Given the description of an element on the screen output the (x, y) to click on. 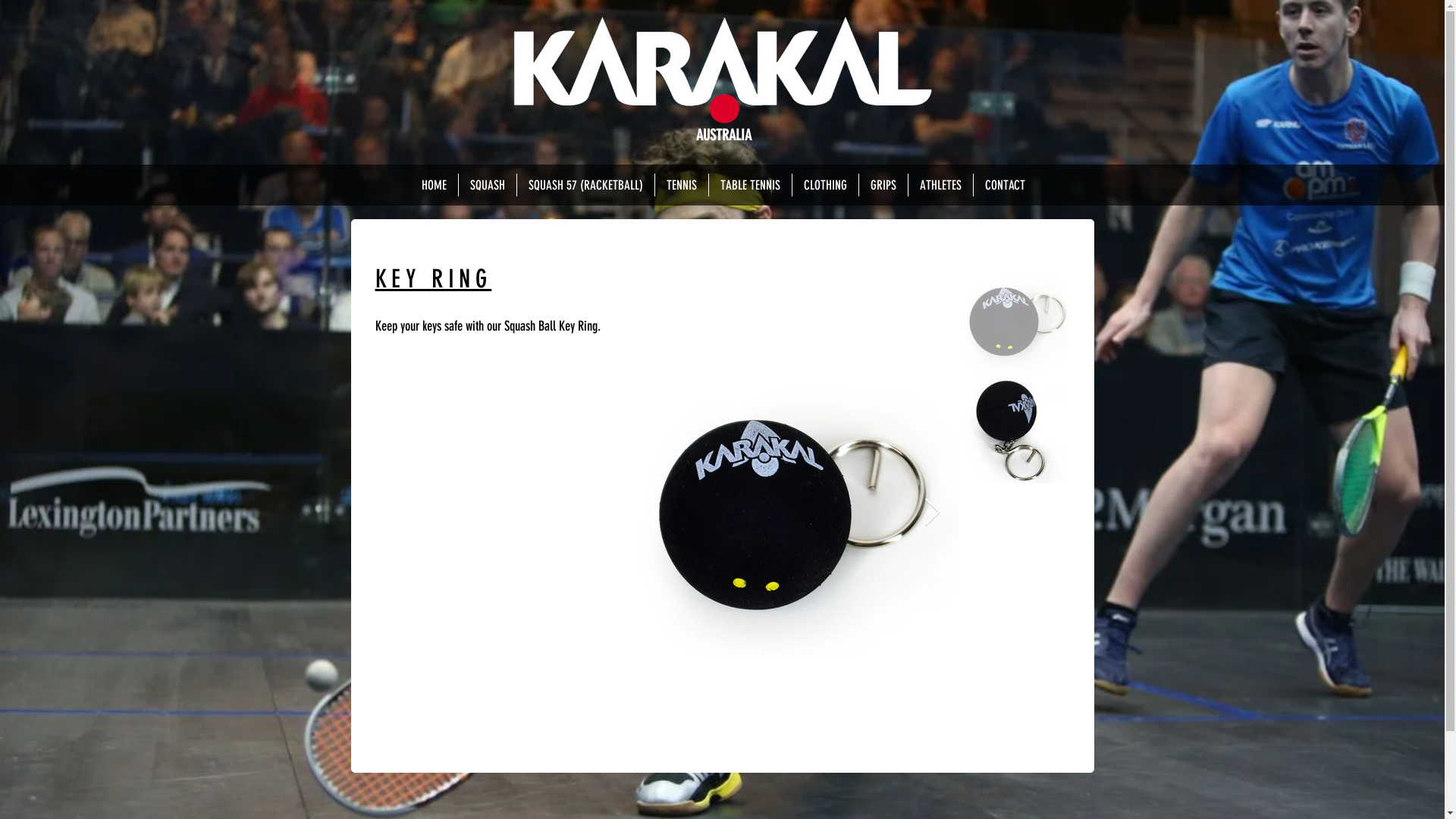
CONTACT Element type: text (1004, 184)
SQUASH Element type: text (486, 184)
TENNIS Element type: text (681, 184)
ATHLETES Element type: text (940, 184)
CLOTHING Element type: text (824, 184)
HOME Element type: text (433, 184)
GRIPS Element type: text (882, 184)
TABLE TENNIS Element type: text (749, 184)
SQUASH 57 (RACKETBALL) Element type: text (585, 184)
